Given the description of an element on the screen output the (x, y) to click on. 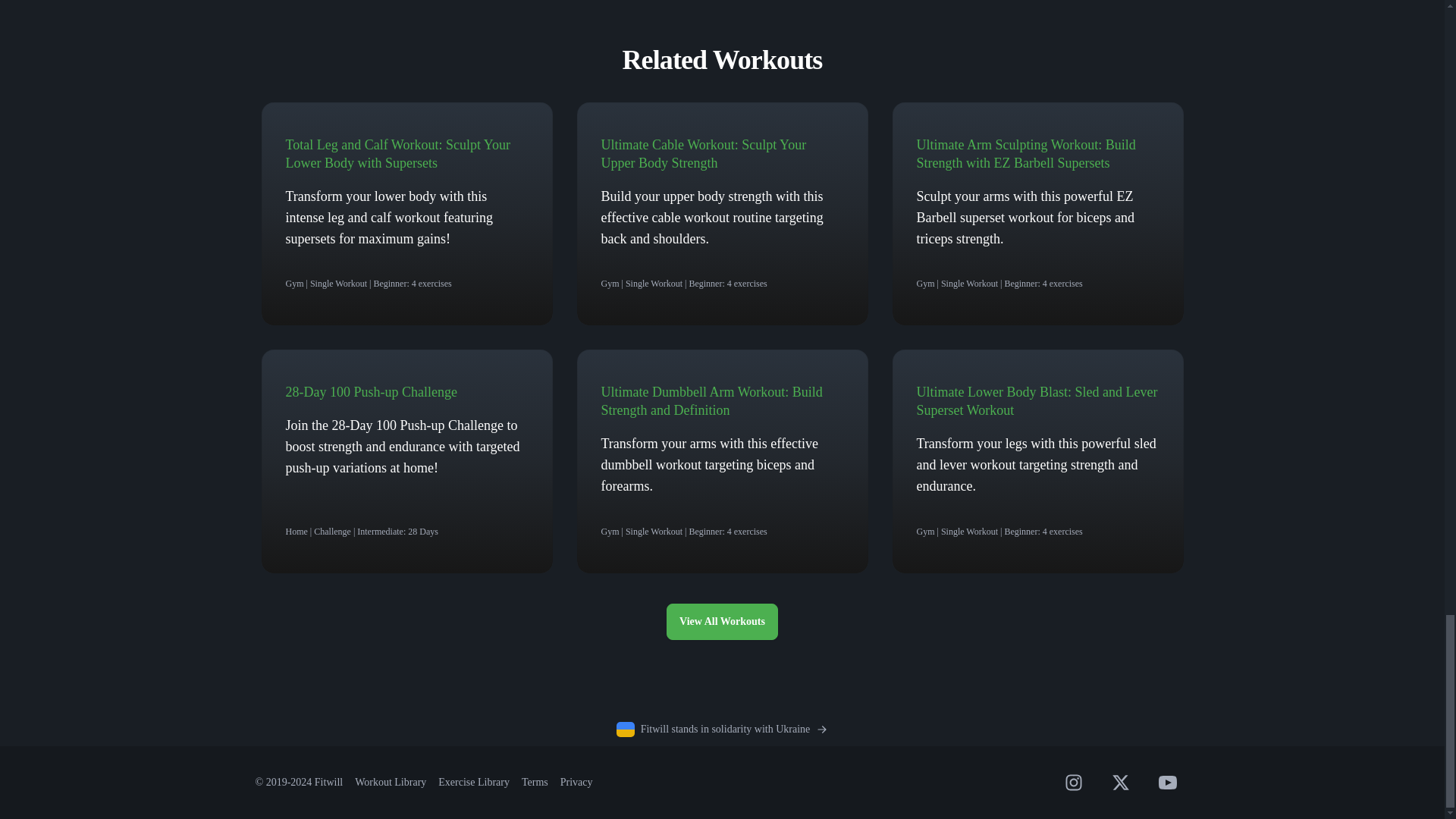
Ultimate Cable Workout: Sculpt Your Upper Body Strength (702, 153)
Fitwill stands in solidarity with Ukraine (721, 729)
View All Workouts (721, 621)
Fitwill: Instagram (1072, 782)
Fitwill: X (1119, 782)
Workout Library (390, 781)
Fitwill: YouTube (1166, 782)
Support Ukraine (721, 729)
Ultimate Dumbbell Arm Workout: Build Strength and Definition (710, 400)
Exercise Library (473, 781)
Terms (534, 781)
Privacy (576, 781)
28-Day 100 Push-up Challenge (371, 391)
